Given the description of an element on the screen output the (x, y) to click on. 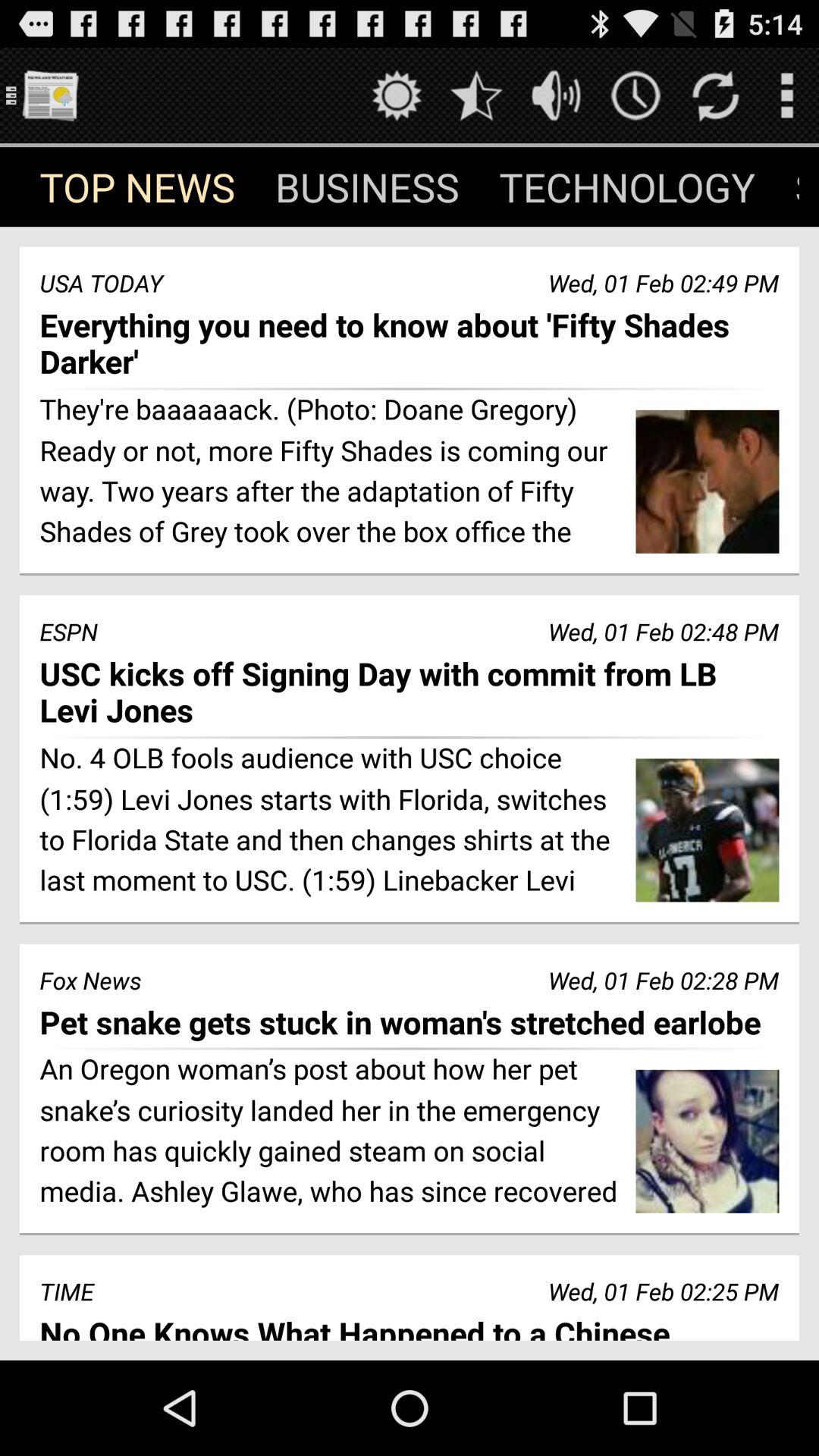
favorites (476, 95)
